Given the description of an element on the screen output the (x, y) to click on. 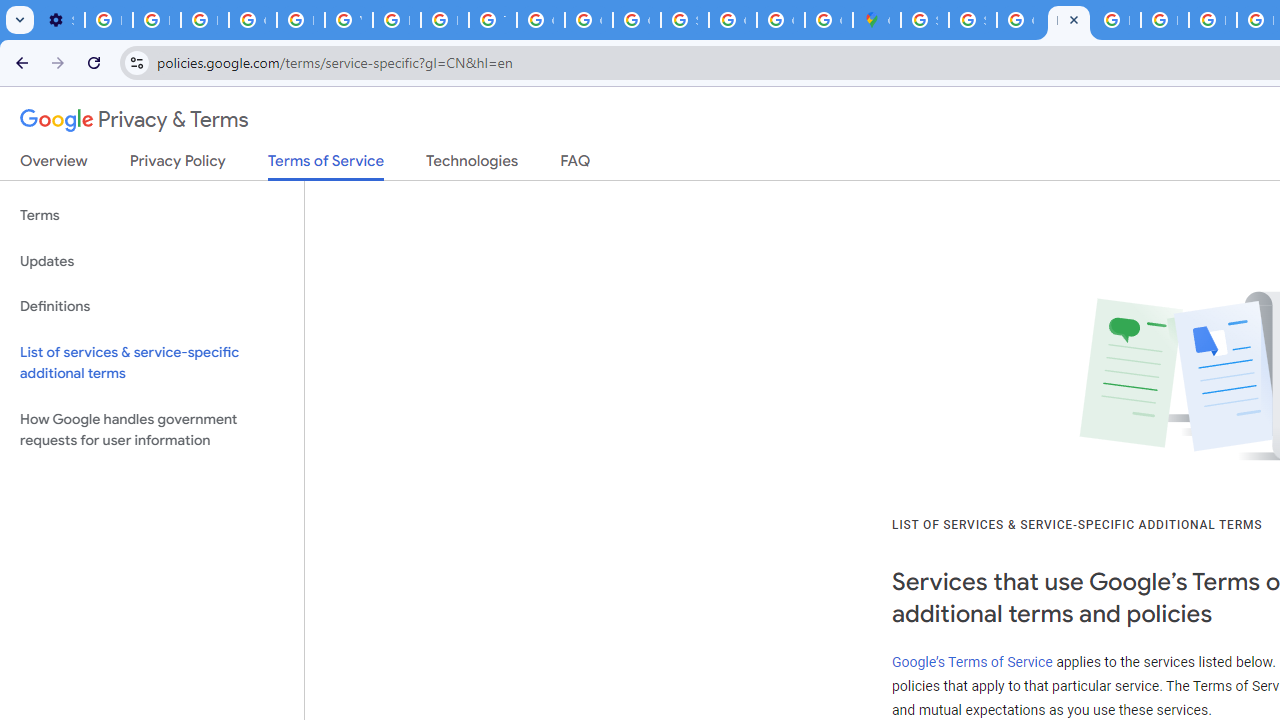
Privacy Help Center - Policies Help (444, 20)
https://scholar.google.com/ (396, 20)
Settings - Customize profile (60, 20)
Blogger Policies and Guidelines - Transparency Center (1116, 20)
How Google handles government requests for user information (152, 429)
